Given the description of an element on the screen output the (x, y) to click on. 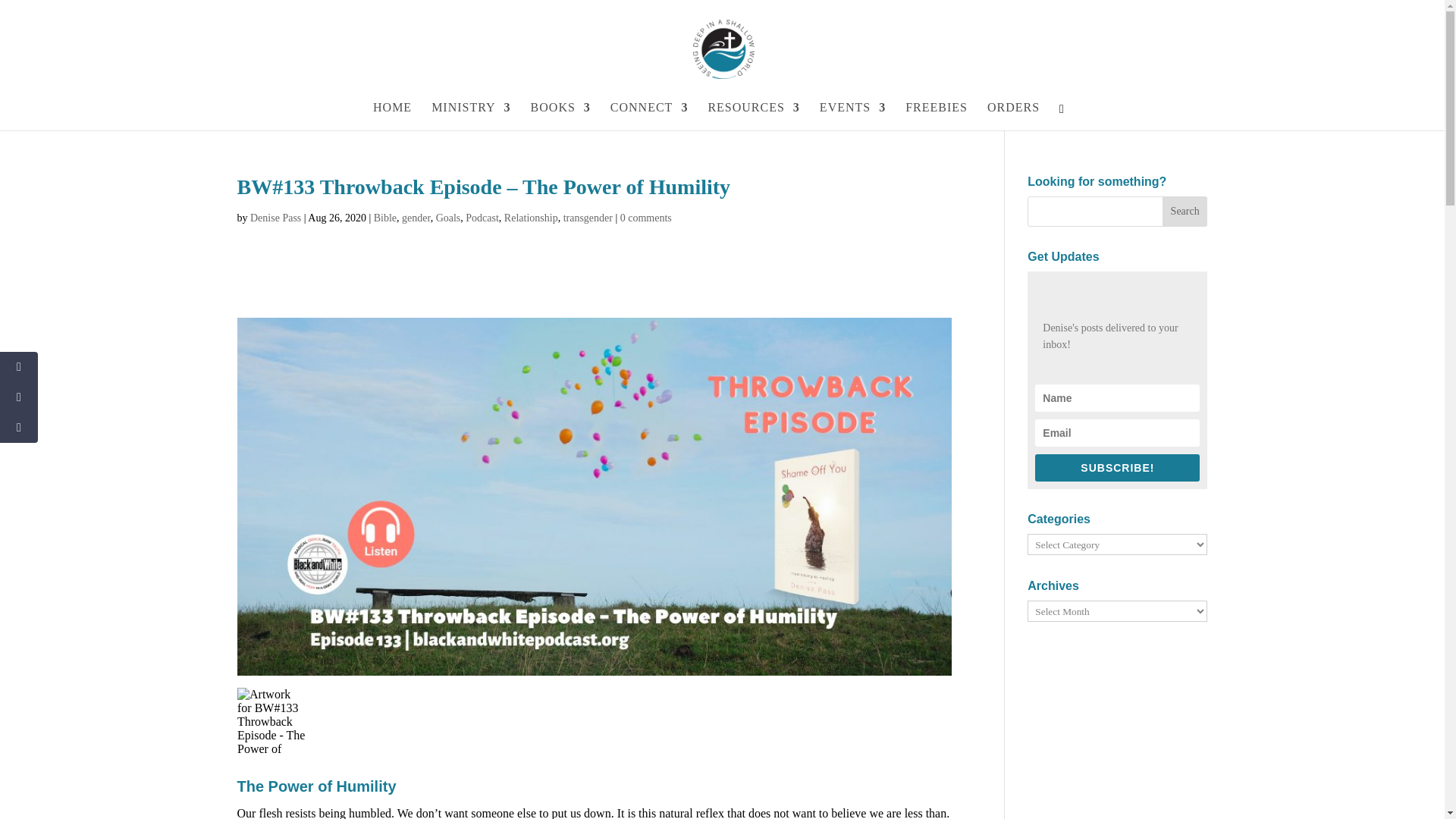
BOOKS (561, 116)
CONNECT (649, 116)
Search (1184, 211)
MINISTRY (470, 116)
Posts by Denise Pass (275, 217)
RESOURCES (753, 116)
EVENTS (852, 116)
HOME (392, 116)
